Given the description of an element on the screen output the (x, y) to click on. 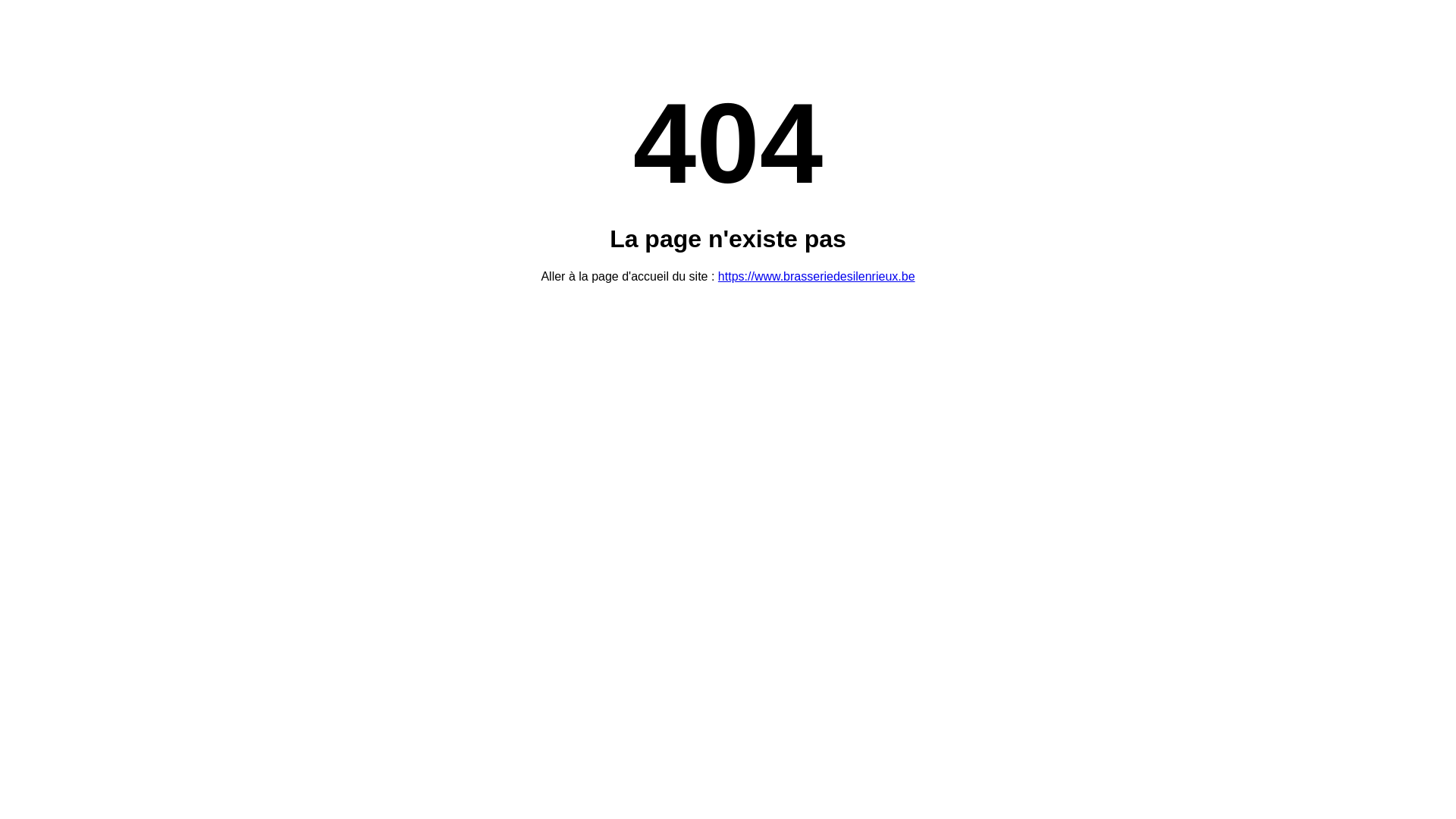
https://www.brasseriedesilenrieux.be Element type: text (816, 275)
